Given the description of an element on the screen output the (x, y) to click on. 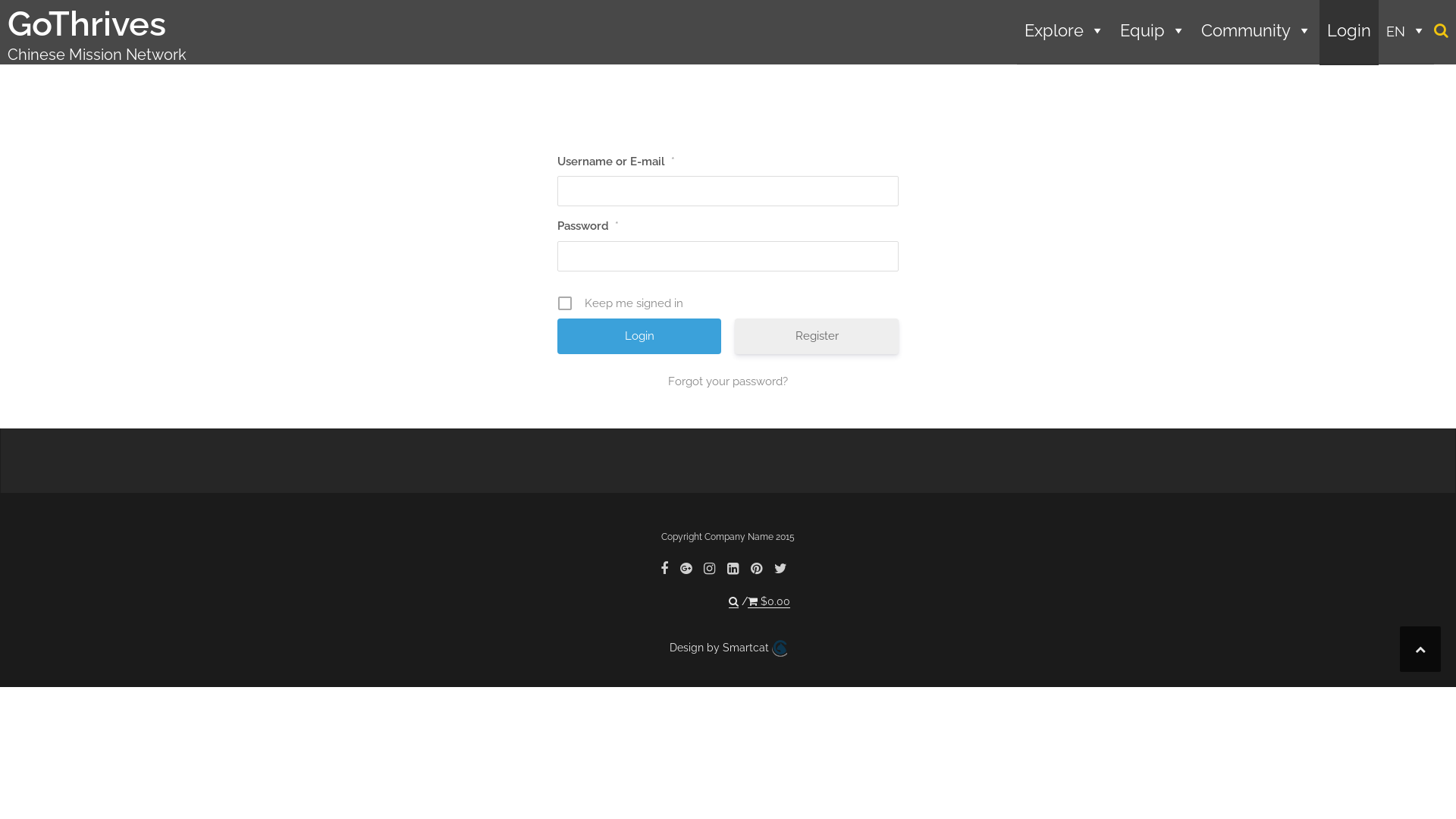
Explore Element type: text (1064, 32)
Login Element type: text (639, 336)
$0.00 Element type: text (768, 601)
Community Element type: text (1256, 32)
EN Element type: text (1406, 32)
Login Element type: text (1348, 32)
Equip Element type: text (1152, 32)
Register Element type: text (816, 336)
GoThrives Element type: text (86, 23)
Design by Smartcat Element type: text (727, 648)
Forgot your password? Element type: text (727, 381)
